Given the description of an element on the screen output the (x, y) to click on. 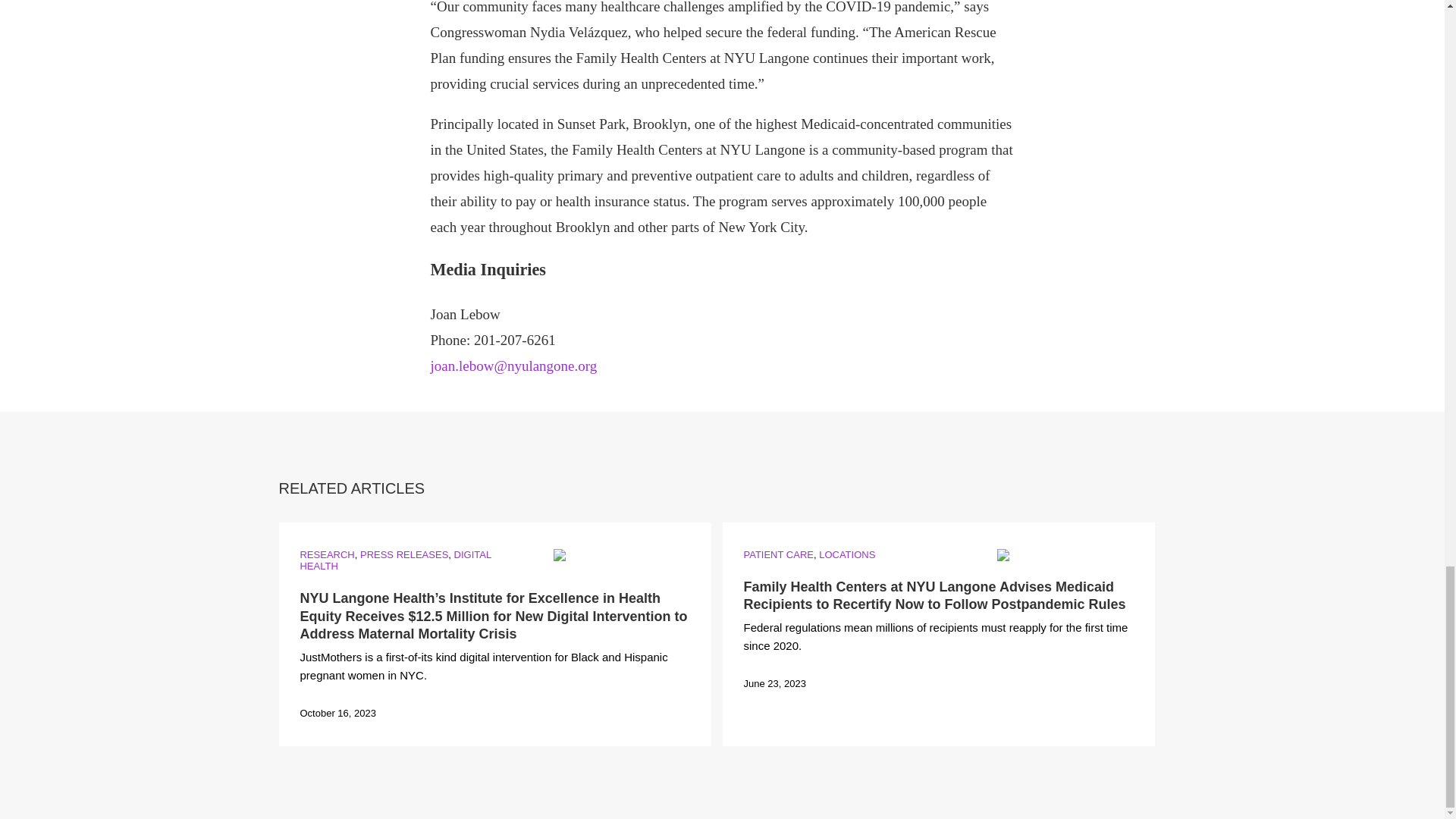
PRESS RELEASES (403, 554)
RESEARCH (326, 554)
PATIENT CARE (777, 554)
LOCATIONS (846, 554)
DIGITAL HEALTH (394, 560)
